Given the description of an element on the screen output the (x, y) to click on. 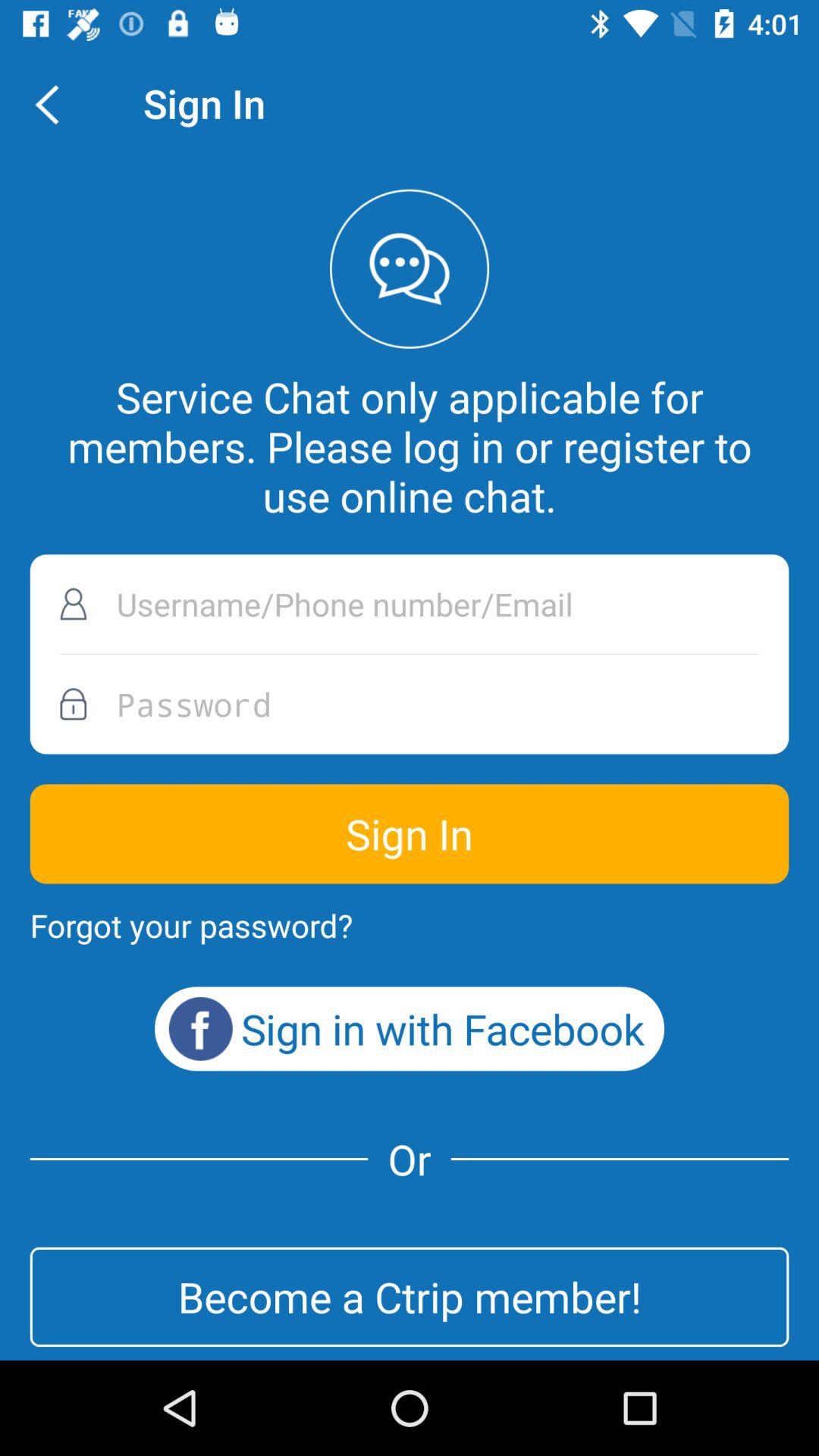
click the icon next to the sign in (55, 103)
